Given the description of an element on the screen output the (x, y) to click on. 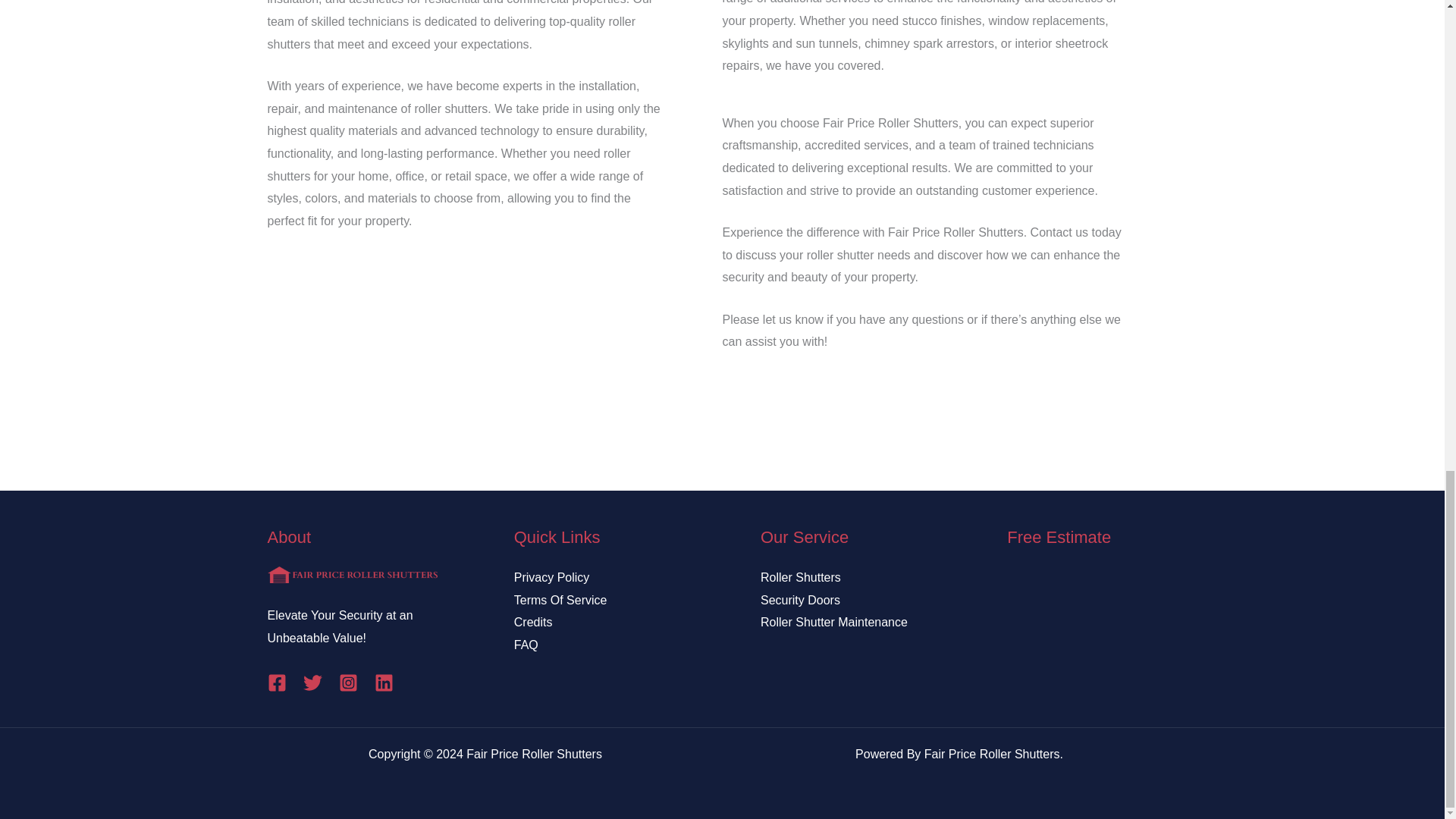
Terms Of Service (560, 599)
Credits (533, 621)
Privacy Policy (551, 576)
Roller Shutters (800, 576)
Security Doors (800, 599)
FAQ (525, 644)
Roller Shutter Maintenance (833, 621)
